Given the description of an element on the screen output the (x, y) to click on. 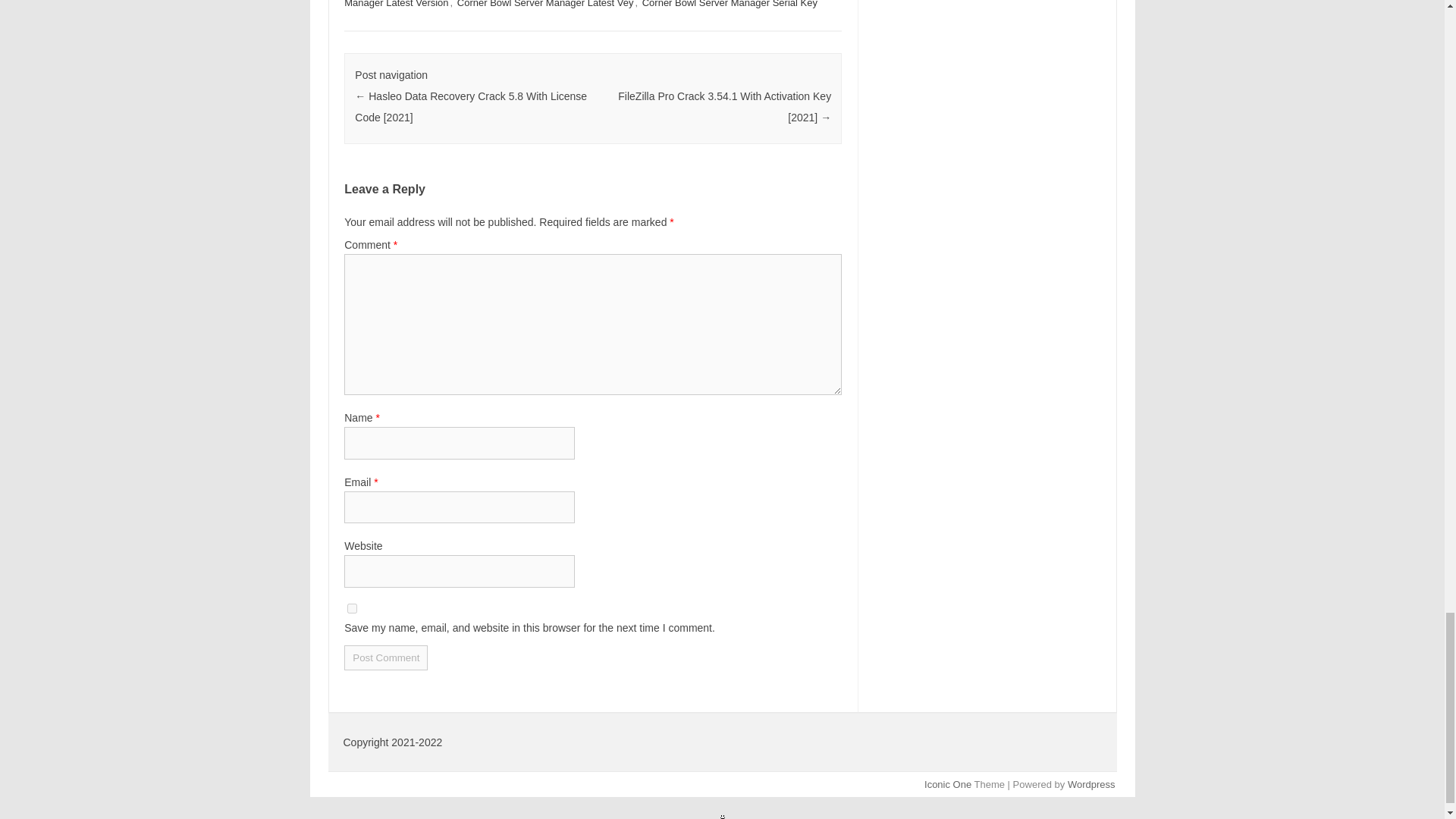
Corner Bowl Server Manager Latest Vey (544, 4)
Post Comment (385, 657)
Corner Bowl Server Manager Latest Version (576, 4)
Post Comment (385, 657)
Corner Bowl Server Manager Serial Key (729, 4)
yes (351, 608)
